Given the description of an element on the screen output the (x, y) to click on. 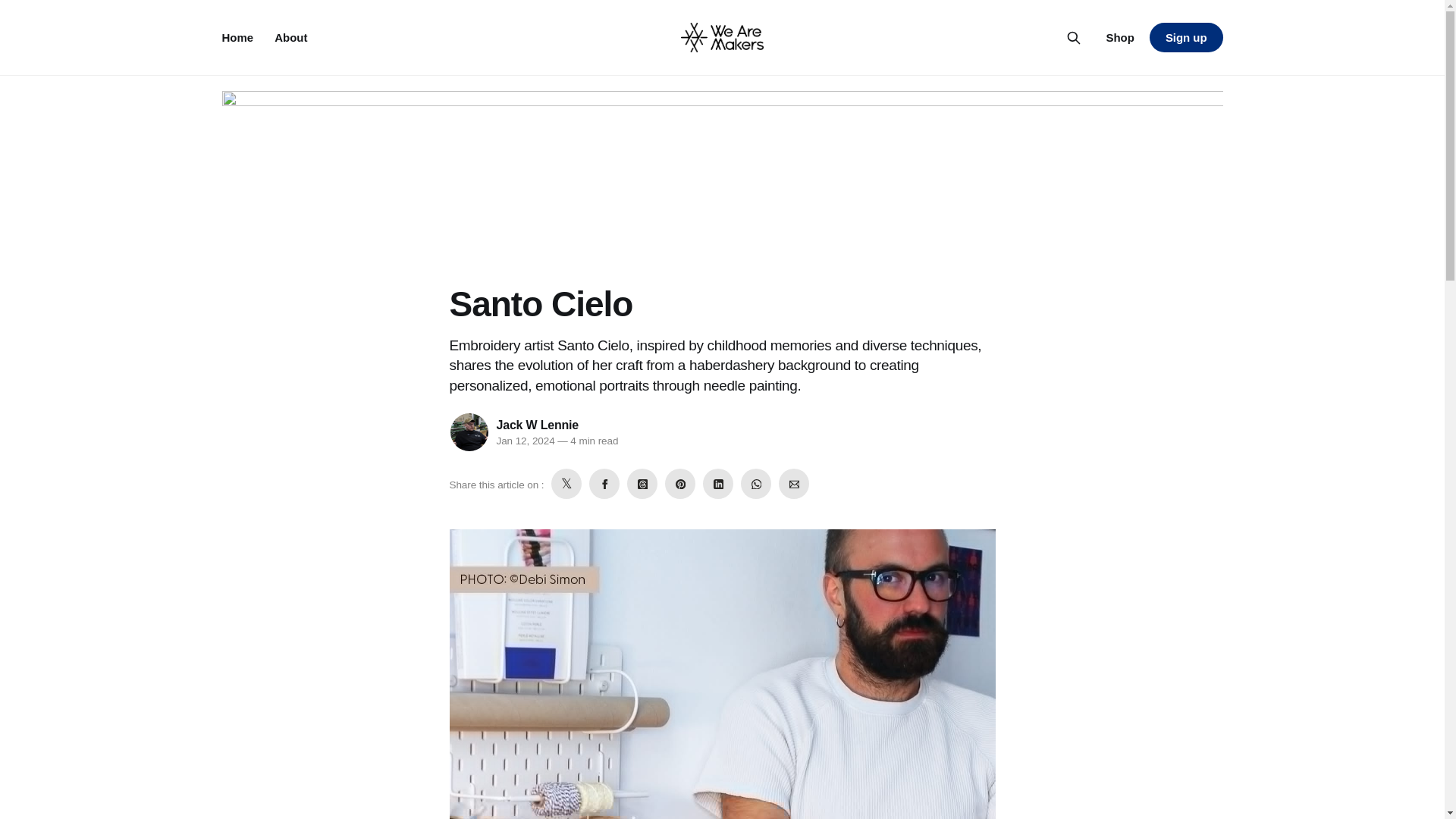
Share via Email (793, 483)
Share on WhatsApp (756, 483)
Shop (1119, 37)
Share on Pinterest (680, 483)
Home (237, 36)
Sign up (1186, 37)
Share on threads (642, 483)
Share on LinkedIn (718, 483)
About (291, 36)
Share on Facebook (604, 483)
